Given the description of an element on the screen output the (x, y) to click on. 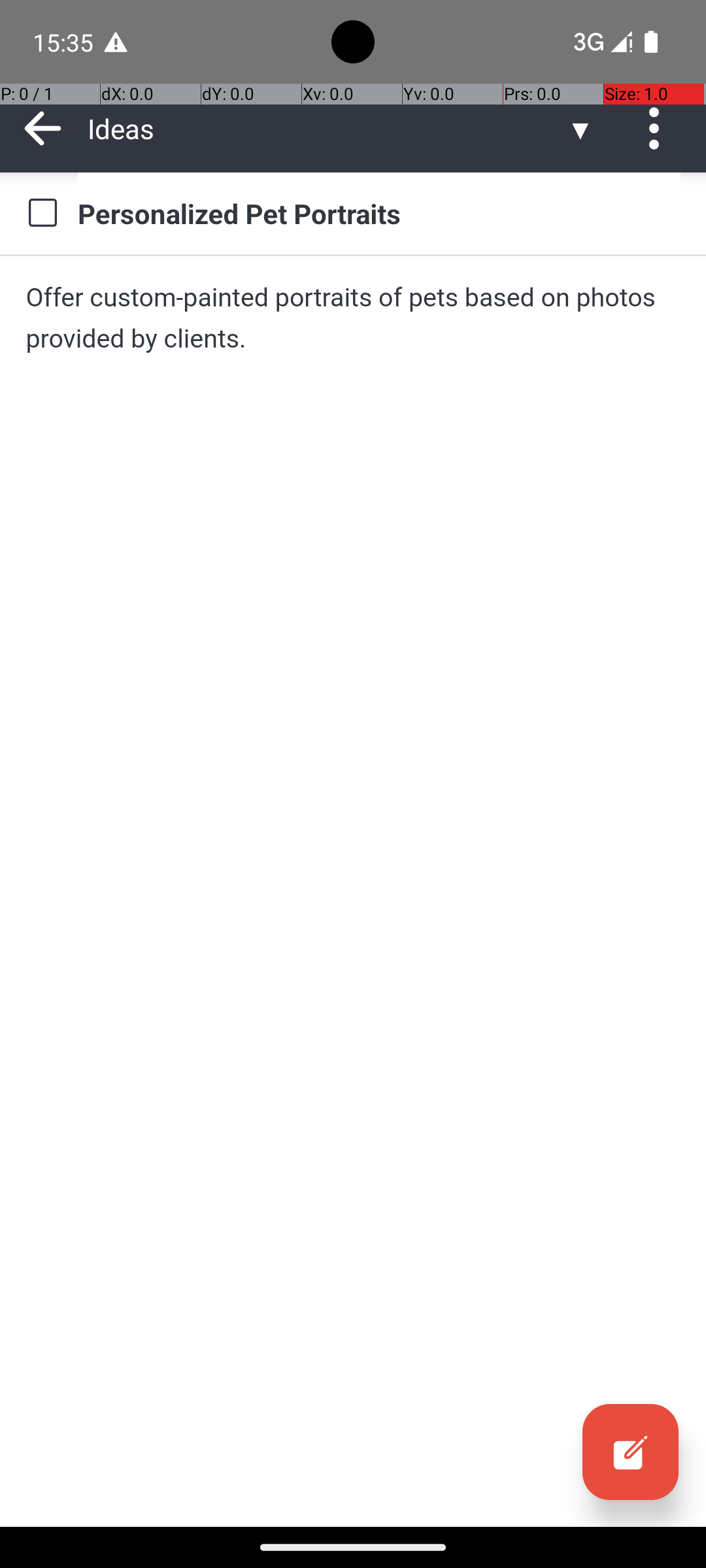
Personalized Pet Portraits Element type: android.widget.EditText (378, 213)
Created: 14/10/2023 15:34 Element type: android.widget.TextView (448, 131)
Updated: 14/10/2023 15:34 Element type: android.widget.TextView (451, 193)
View on map Element type: android.widget.TextView (371, 307)
Offer custom-painted portraits of pets based on photos provided by clients. Element type: android.widget.TextView (352, 317)
